Given the description of an element on the screen output the (x, y) to click on. 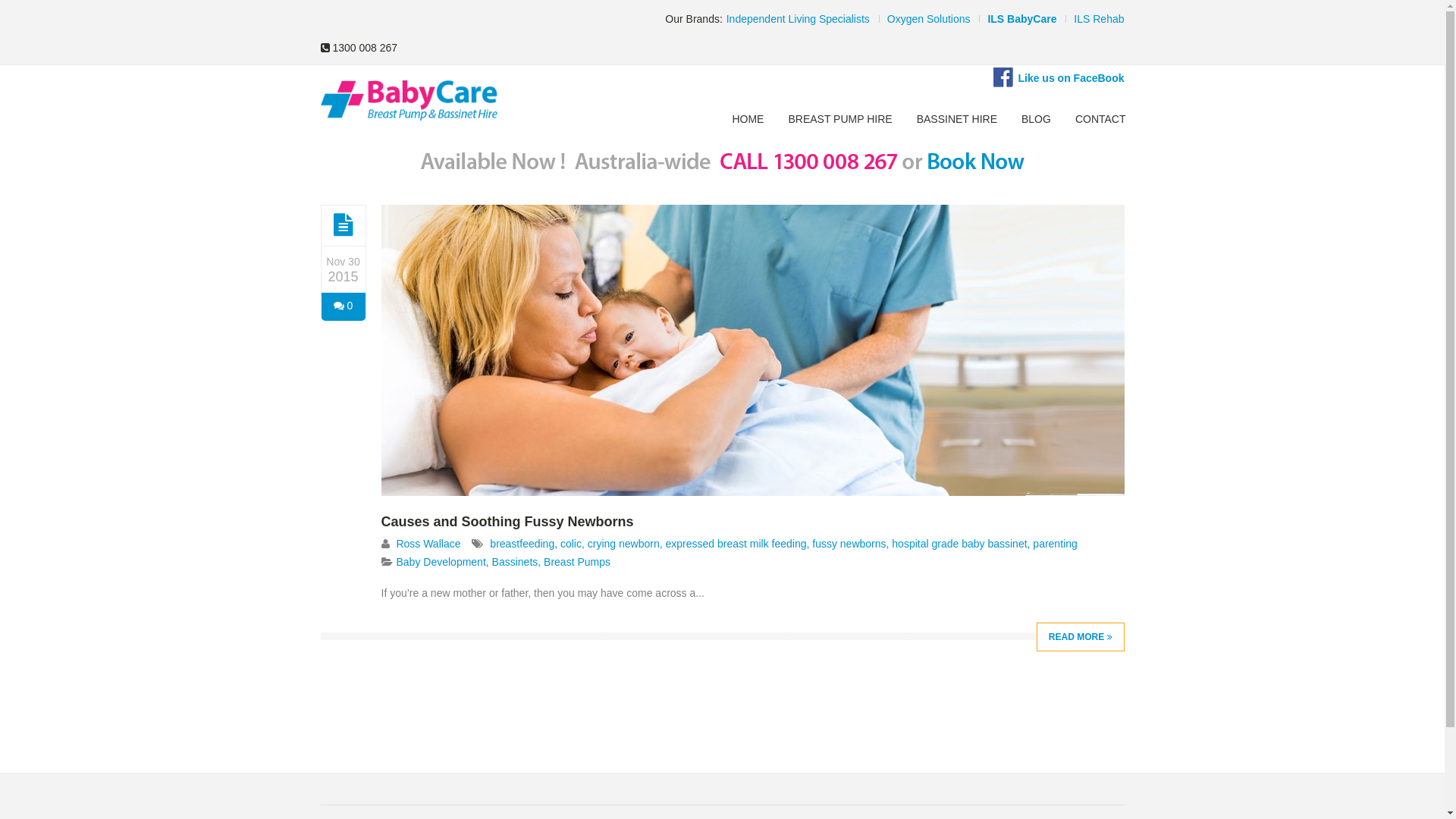
Ross Wallace Element type: text (427, 543)
Breast Pumps Element type: text (576, 561)
parenting Element type: text (1054, 543)
Causes and Soothing Fussy Newborns Element type: text (506, 521)
HOME Element type: text (747, 118)
Oxygen Solutions Element type: text (924, 18)
BLOG Element type: text (1036, 118)
ILS Babycare Element type: hover (408, 101)
CONTACT Element type: text (1100, 118)
hospital grade baby bassinet Element type: text (958, 543)
ILS BabyCare Element type: text (1017, 18)
colic Element type: text (570, 543)
Bassinets Element type: text (515, 561)
READ MORE Element type: text (1080, 636)
BASSINET HIRE Element type: text (956, 118)
crying newborn Element type: text (623, 543)
Independent Living Specialists Element type: text (793, 18)
0 Element type: text (343, 306)
ILS Rehab Element type: text (1094, 18)
Baby Development Element type: text (440, 561)
BREAST PUMP HIRE Element type: text (839, 118)
expressed breast milk feeding Element type: text (735, 543)
Like us on FaceBook Element type: text (1070, 78)
breastfeeding Element type: text (521, 543)
fussy newborns Element type: text (848, 543)
Causes and Soothing Fussy Newborns Element type: hover (751, 492)
Causes and Soothing Fussy Newborns Element type: hover (343, 225)
ILS Babycare Element type: hover (408, 100)
